Given the description of an element on the screen output the (x, y) to click on. 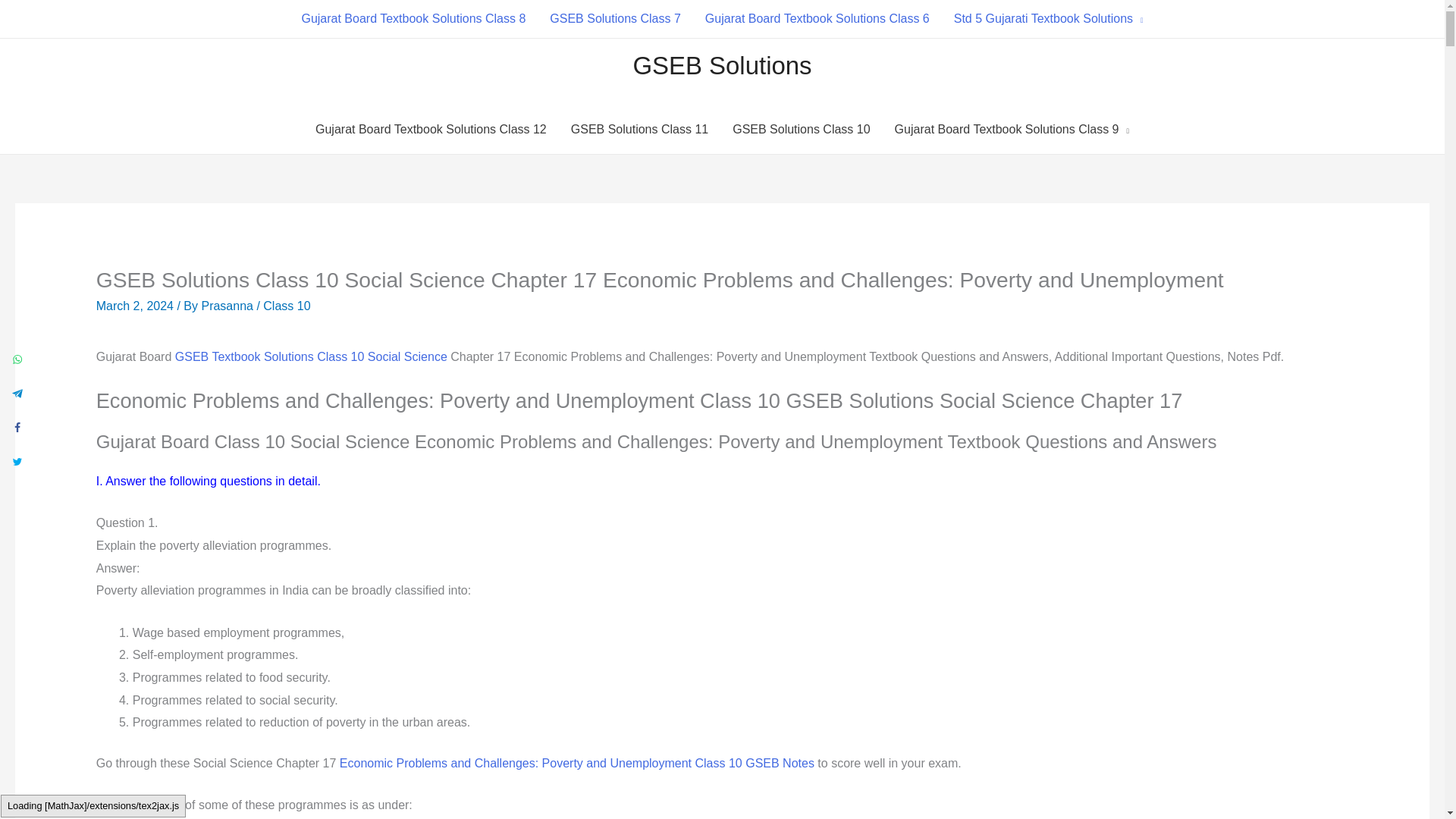
Share on Telegram (16, 392)
GSEB Solutions Class 10 (801, 129)
GSEB Solutions (720, 65)
GSEB Solutions Class 7 (615, 18)
Share on Facebook (16, 426)
View all posts by Prasanna (228, 305)
Share on Twitter (16, 460)
Std 5 Gujarati Textbook Solutions (1049, 18)
Prasanna (228, 305)
Gujarat Board Textbook Solutions Class 12 (430, 129)
Gujarat Board Textbook Solutions Class 8 (412, 18)
Class 10 (286, 305)
Share on WhatsApp (16, 358)
Gujarat Board Textbook Solutions Class 9 (1011, 129)
